Given the description of an element on the screen output the (x, y) to click on. 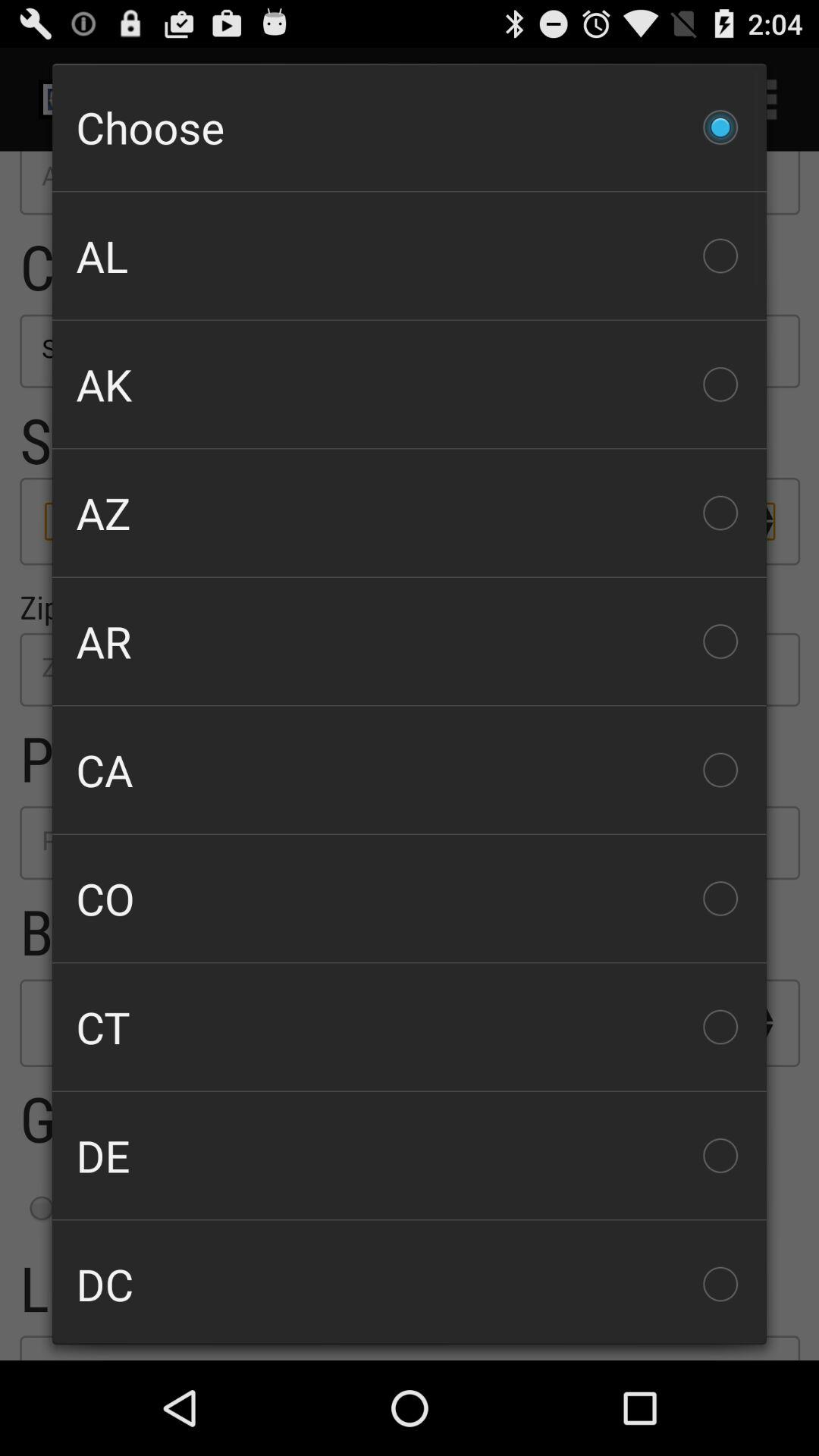
choose ct (409, 1026)
